Given the description of an element on the screen output the (x, y) to click on. 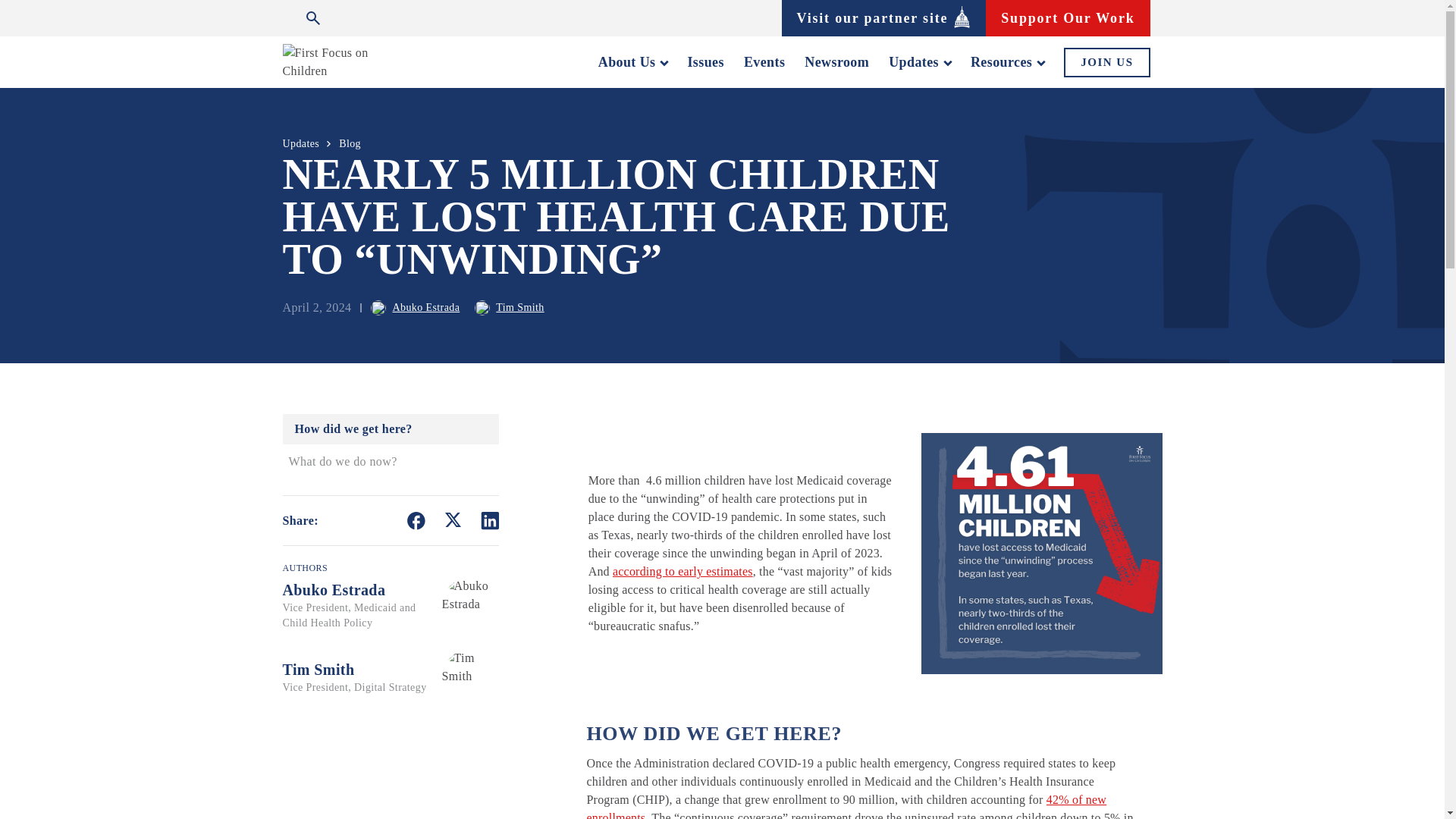
Events (764, 61)
JOIN US (1107, 61)
Issues (705, 61)
Visit our partner site (883, 17)
Support Our Work (1067, 17)
Resources (1007, 61)
Newsroom (837, 61)
Updates (919, 61)
About Us (633, 61)
